Given the description of an element on the screen output the (x, y) to click on. 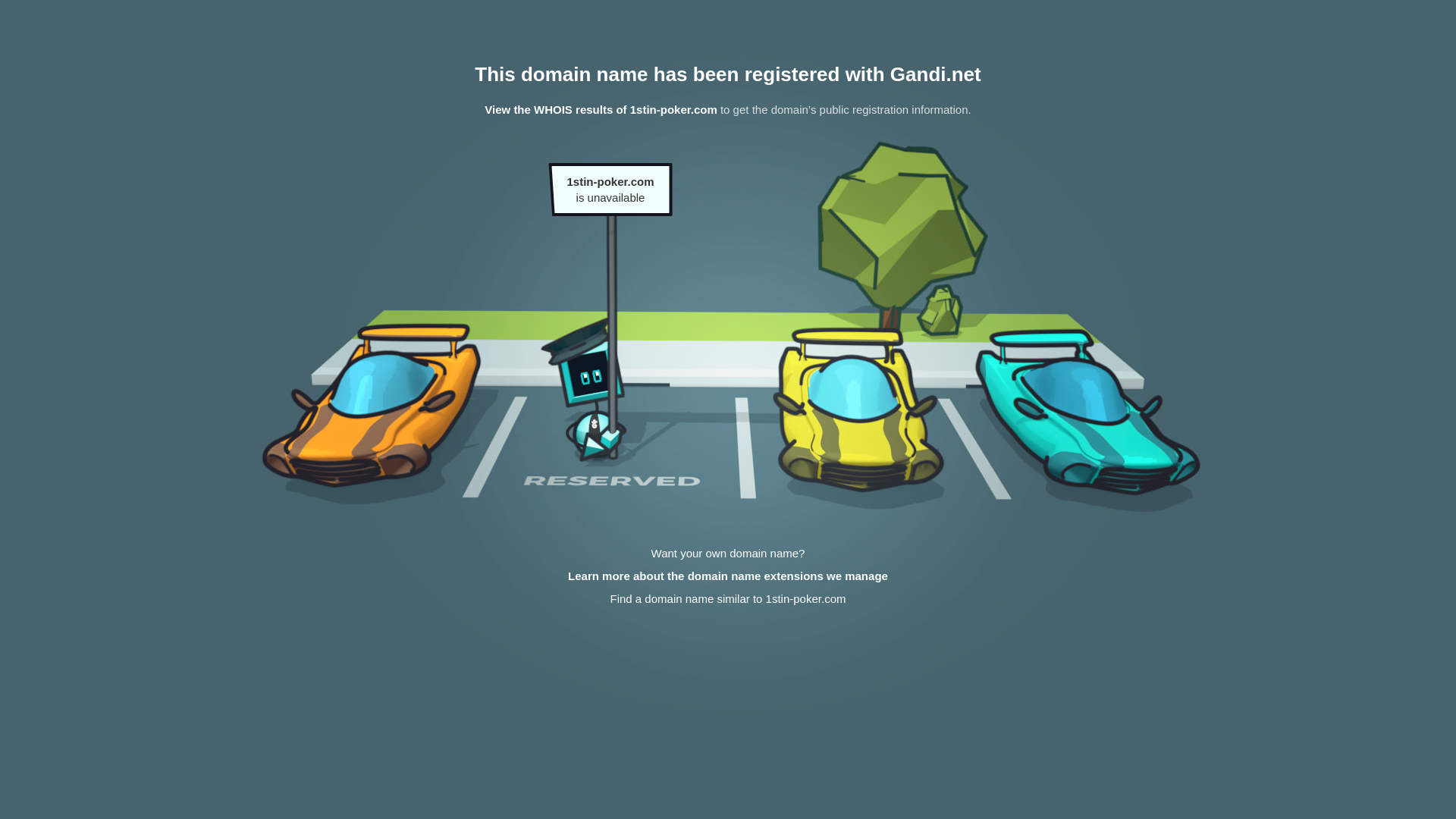
View the WHOIS results of 1stin-poker.com Element type: text (600, 109)
Find a domain name similar to 1stin-poker.com Element type: text (728, 598)
Learn more about the domain name extensions we manage Element type: text (727, 575)
